Given the description of an element on the screen output the (x, y) to click on. 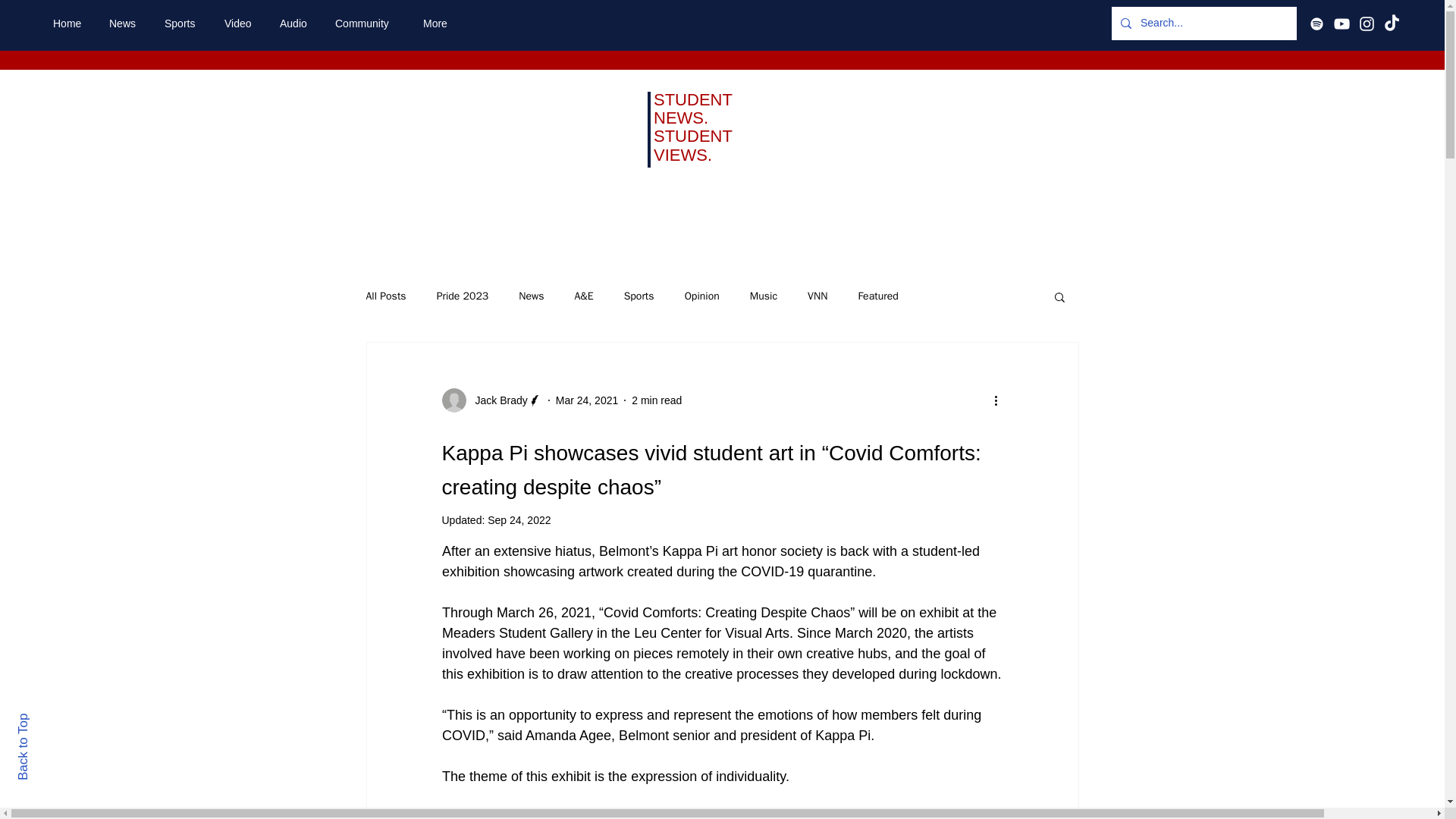
Sports (182, 23)
Jack Brady (491, 400)
Pride 2023 (462, 296)
2 min read (656, 399)
News (530, 296)
Mar 24, 2021 (587, 399)
VNN (817, 296)
Opinion (701, 296)
Audio (295, 23)
Music (763, 296)
Community (367, 23)
News (124, 23)
Video (239, 23)
All Posts (385, 296)
Featured (877, 296)
